Given the description of an element on the screen output the (x, y) to click on. 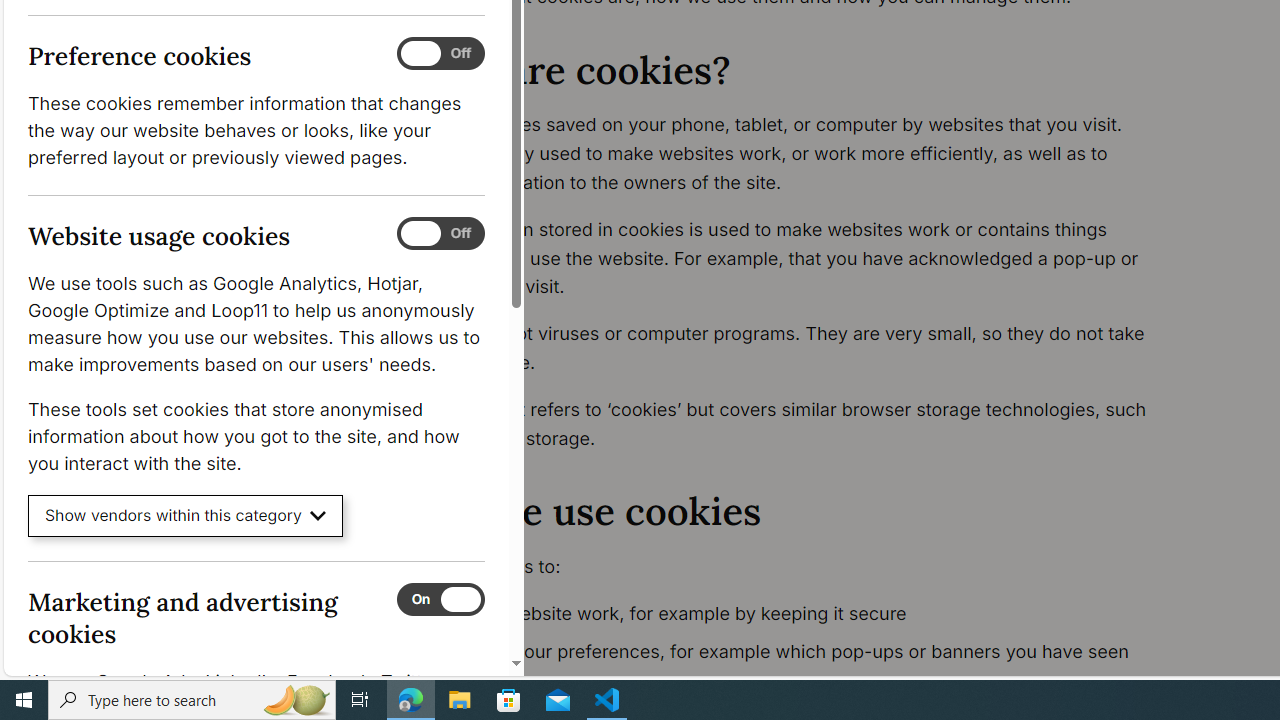
Marketing and advertising cookies (440, 599)
Website usage cookies (440, 233)
Preference cookies (440, 53)
make our website work, for example by keeping it secure (796, 614)
Show vendors within this category (185, 516)
